Given the description of an element on the screen output the (x, y) to click on. 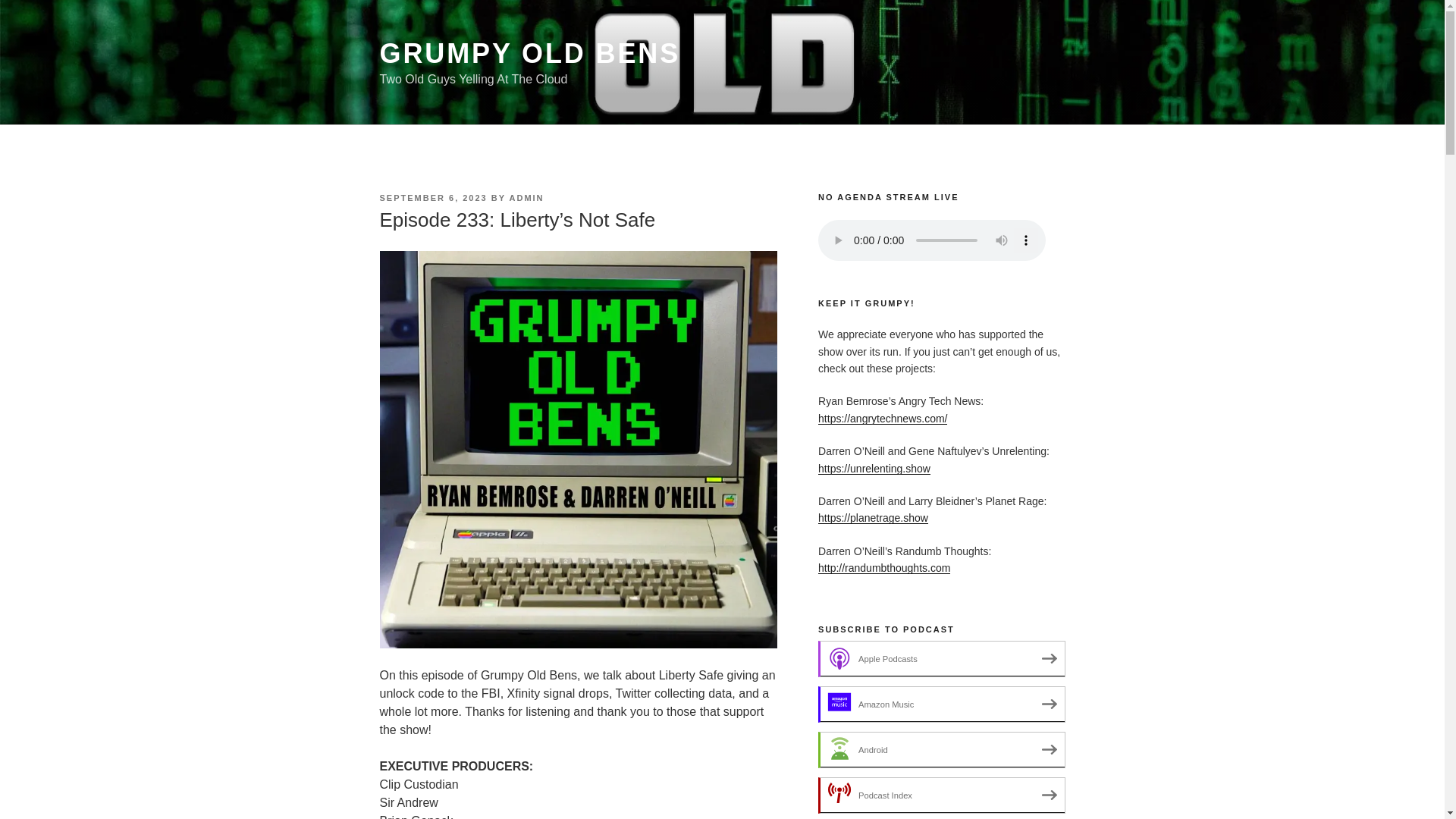
SEPTEMBER 6, 2023 (432, 197)
Subscribe on Podcast Index (941, 795)
ADMIN (526, 197)
Subscribe on Apple Podcasts (941, 658)
Apple Podcasts (941, 658)
Amazon Music (941, 704)
Subscribe on Android (941, 750)
GRUMPY OLD BENS (528, 52)
Android (941, 750)
Subscribe on Amazon Music (941, 704)
Podcast Index (941, 795)
